Given the description of an element on the screen output the (x, y) to click on. 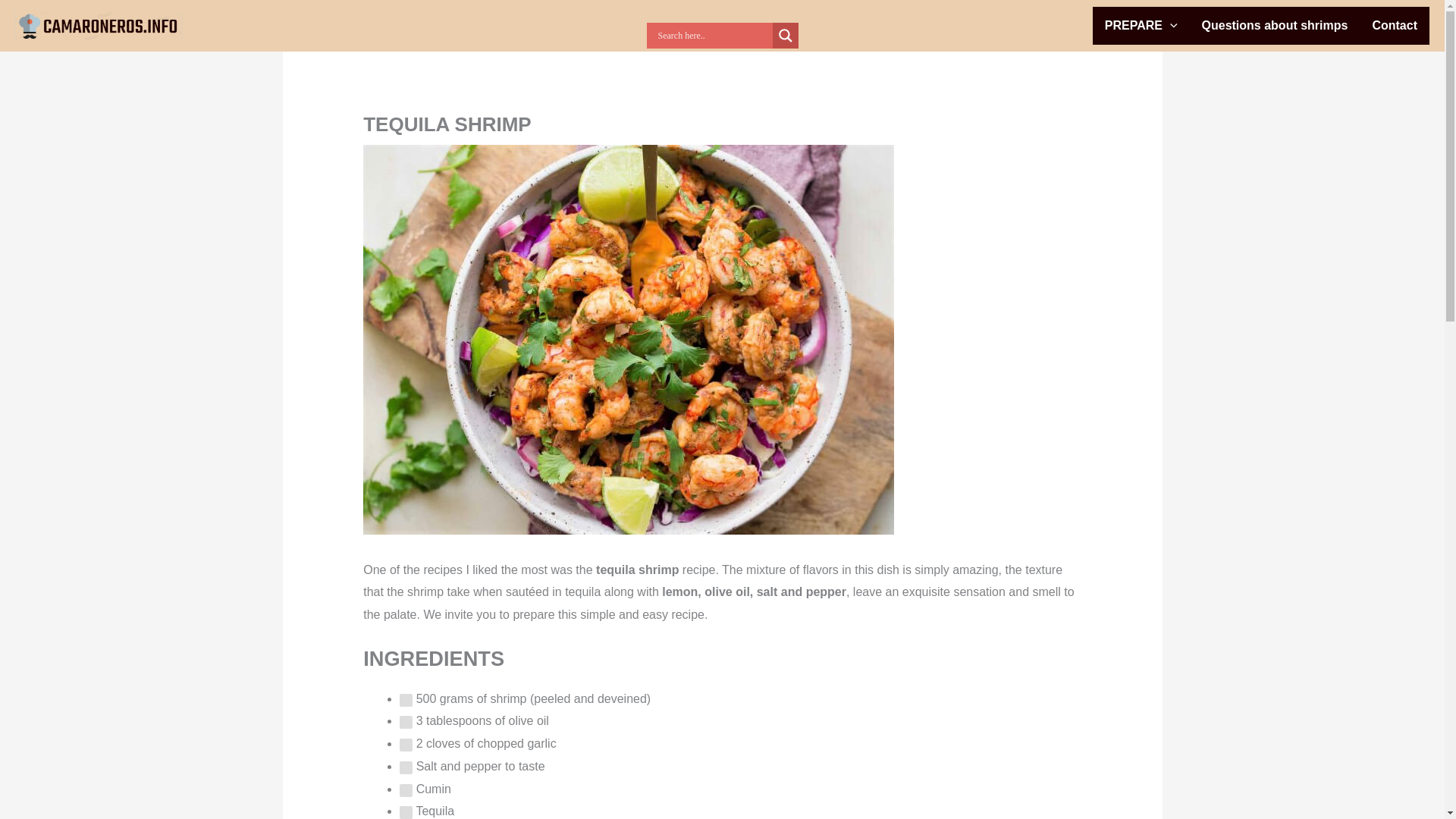
on (405, 789)
on (405, 721)
PREPARE (1141, 25)
on (405, 744)
on (405, 812)
on (405, 767)
on (405, 699)
